Given the description of an element on the screen output the (x, y) to click on. 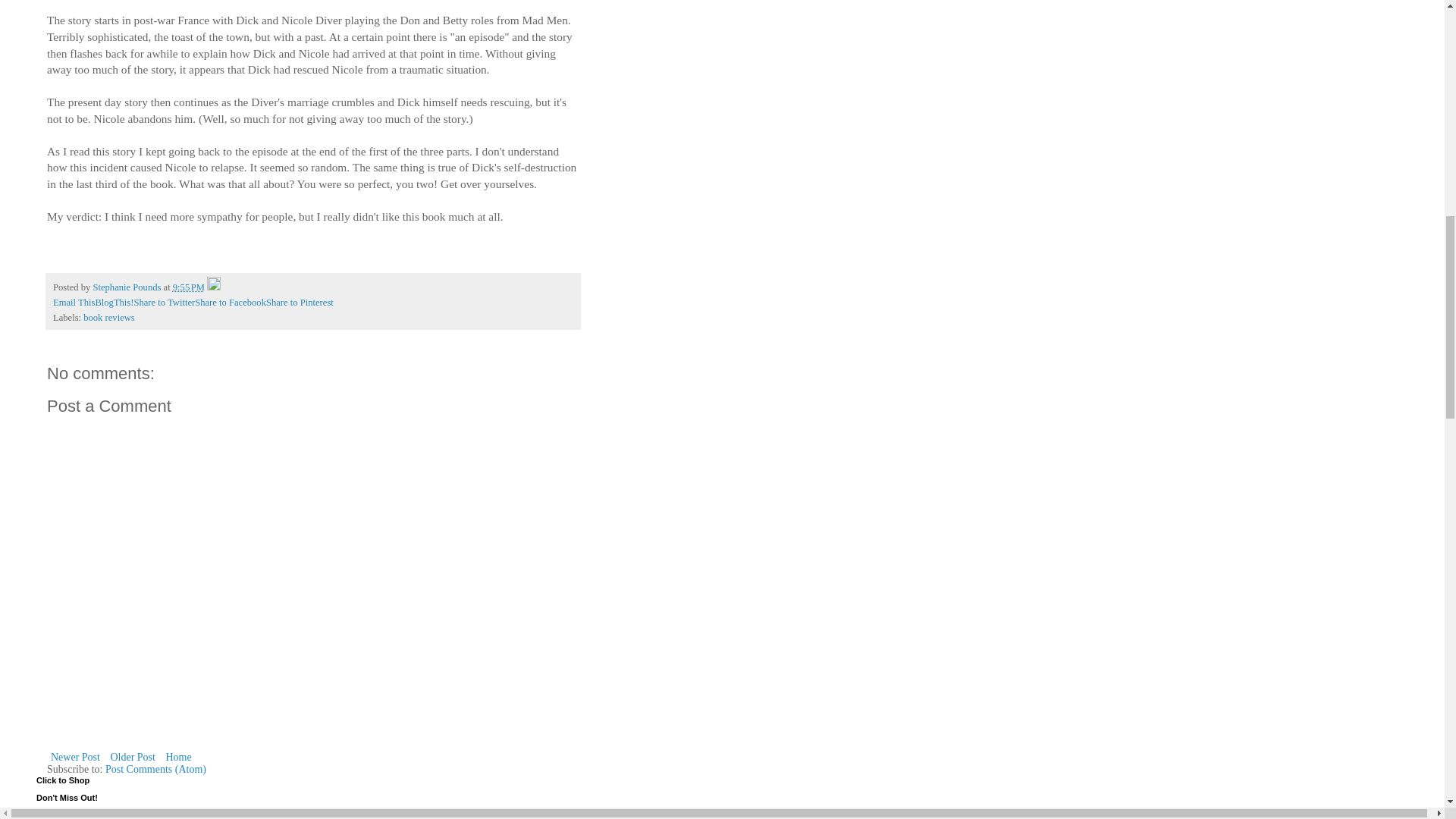
Share to Pinterest (299, 302)
book reviews (108, 317)
Share to Facebook (230, 302)
Newer Post (74, 756)
Older Post (132, 756)
permanent link (189, 286)
Email This (73, 302)
Stephanie Pounds (128, 286)
Newer Post (74, 756)
BlogThis! (113, 302)
Email This (73, 302)
Edit Post (213, 286)
Home (178, 756)
Share to Twitter (164, 302)
